Given the description of an element on the screen output the (x, y) to click on. 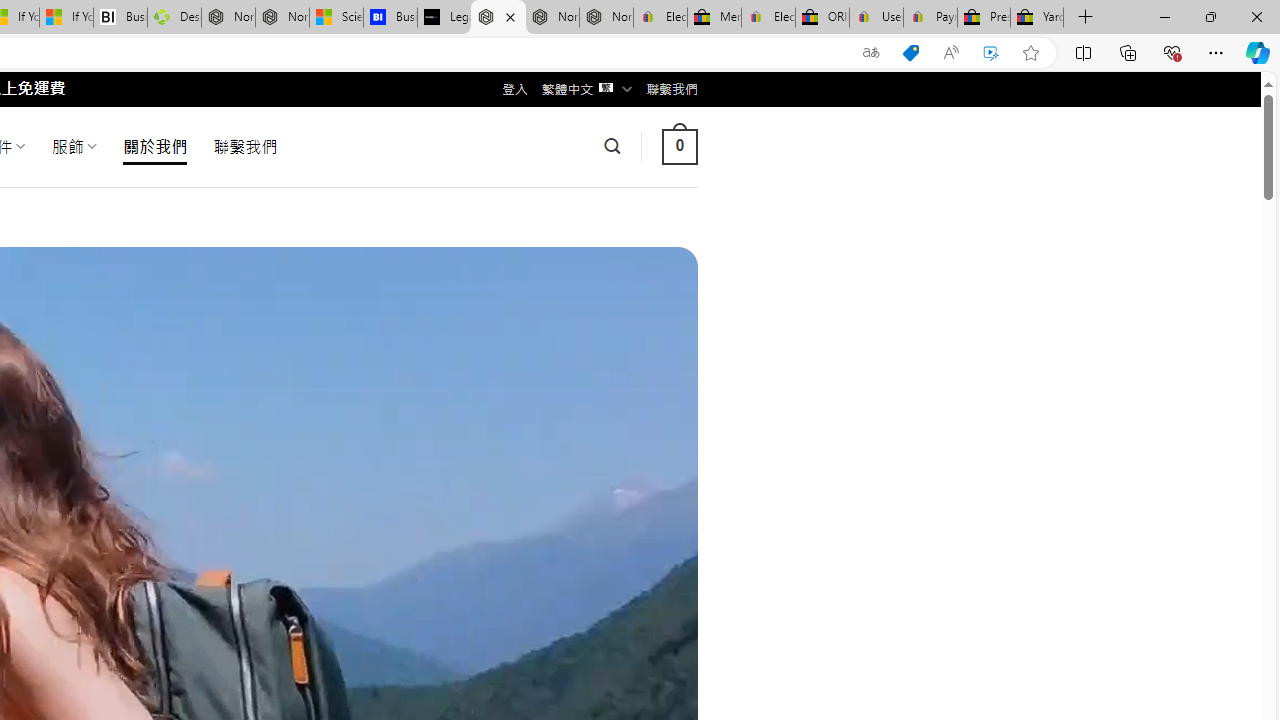
  0   (679, 146)
